Given the description of an element on the screen output the (x, y) to click on. 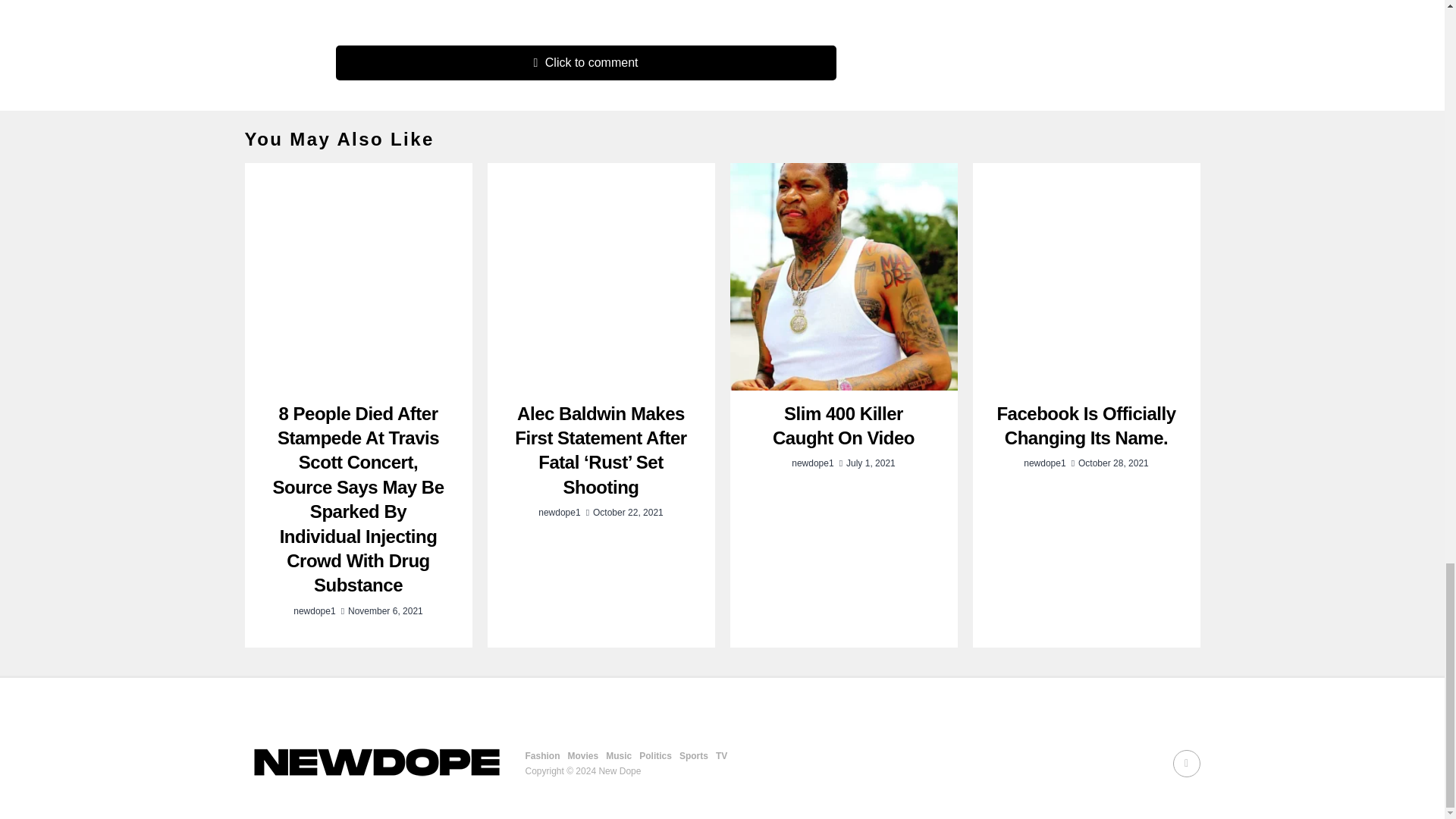
Posts by newdope1 (558, 511)
Posts by newdope1 (314, 611)
Posts by newdope1 (1044, 462)
Posts by newdope1 (812, 462)
